Given the description of an element on the screen output the (x, y) to click on. 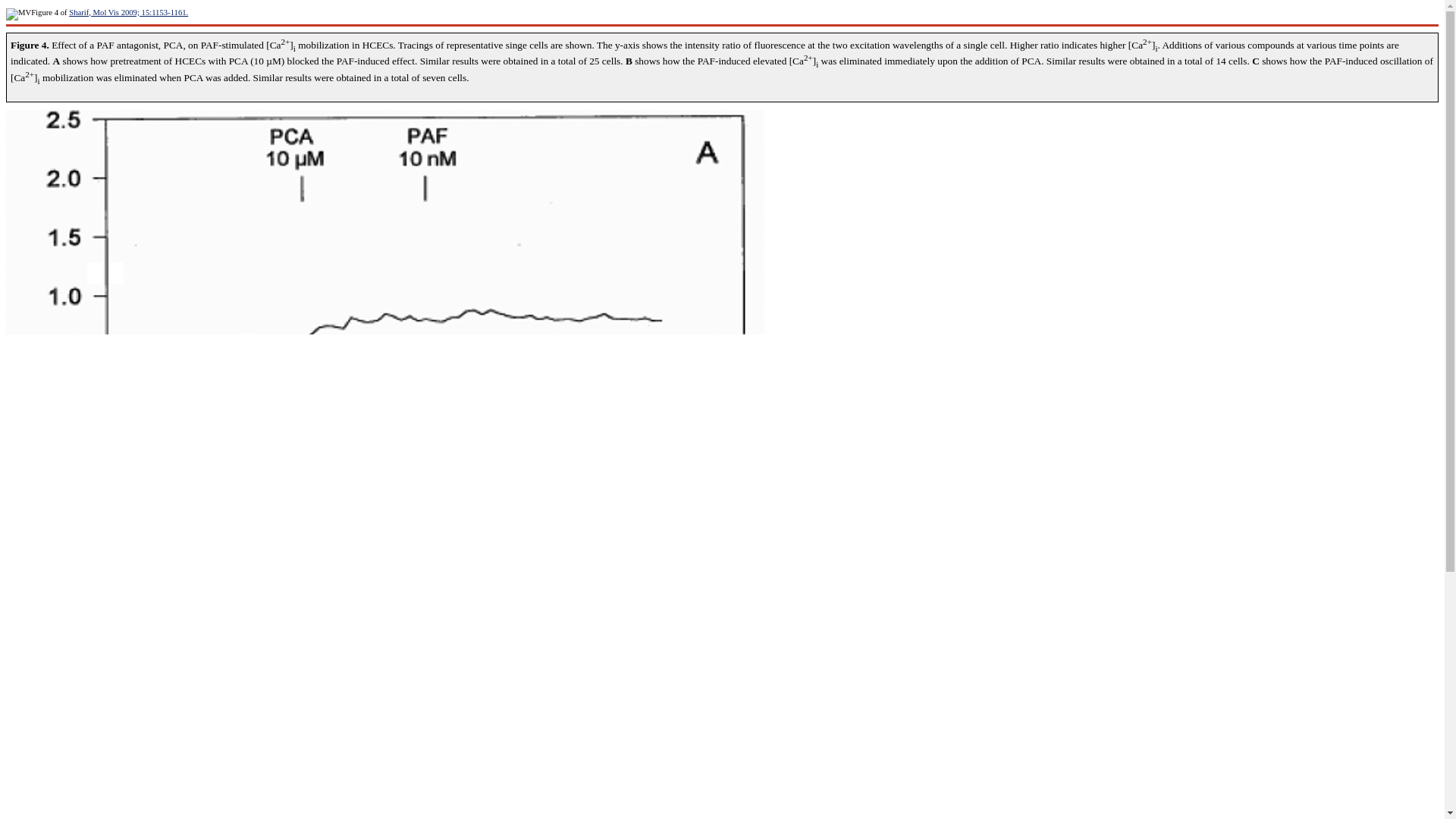
Sharif, Mol Vis 2009; 15:1153-1161. (127, 12)
